Given the description of an element on the screen output the (x, y) to click on. 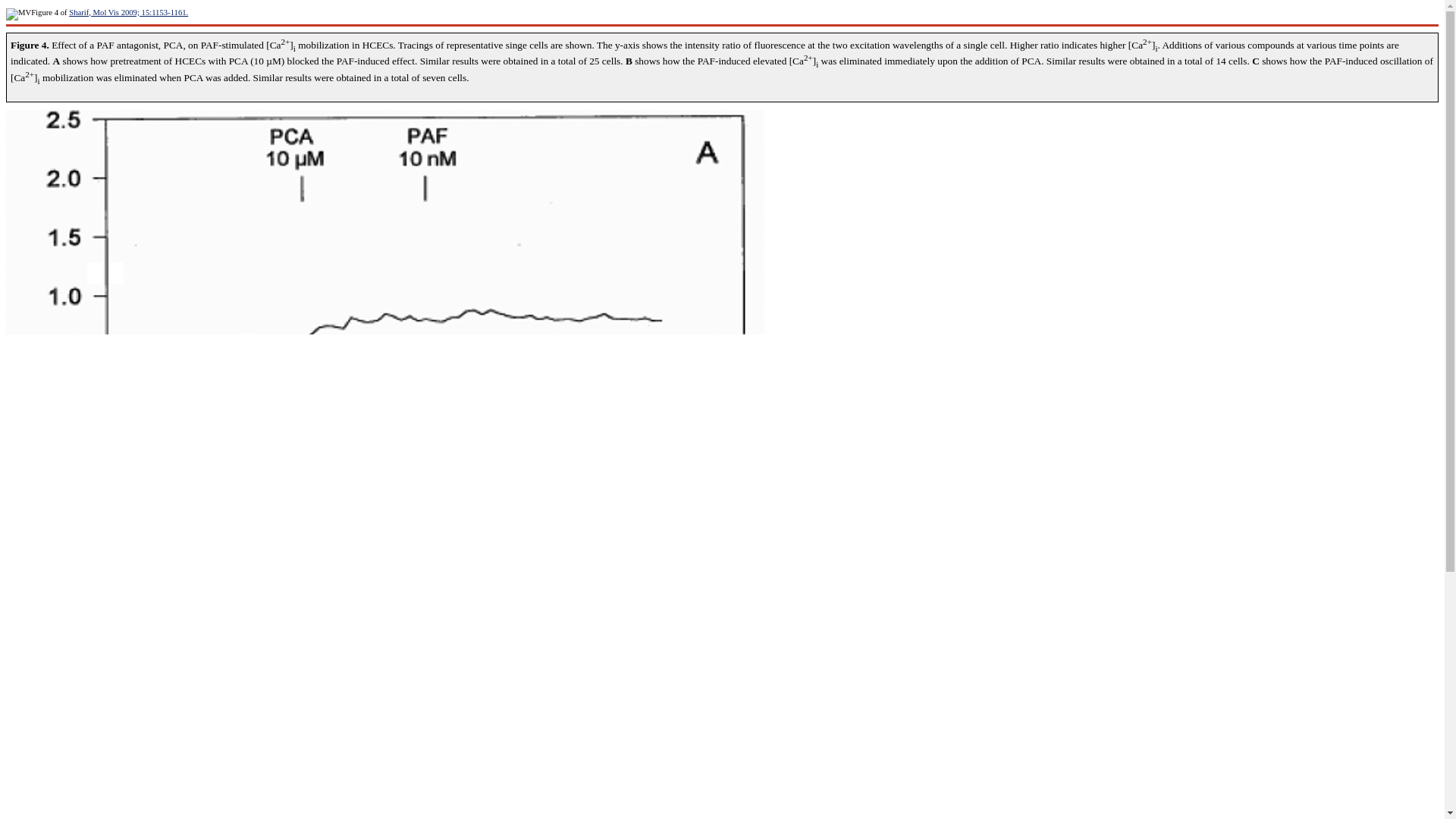
Sharif, Mol Vis 2009; 15:1153-1161. (127, 12)
